Given the description of an element on the screen output the (x, y) to click on. 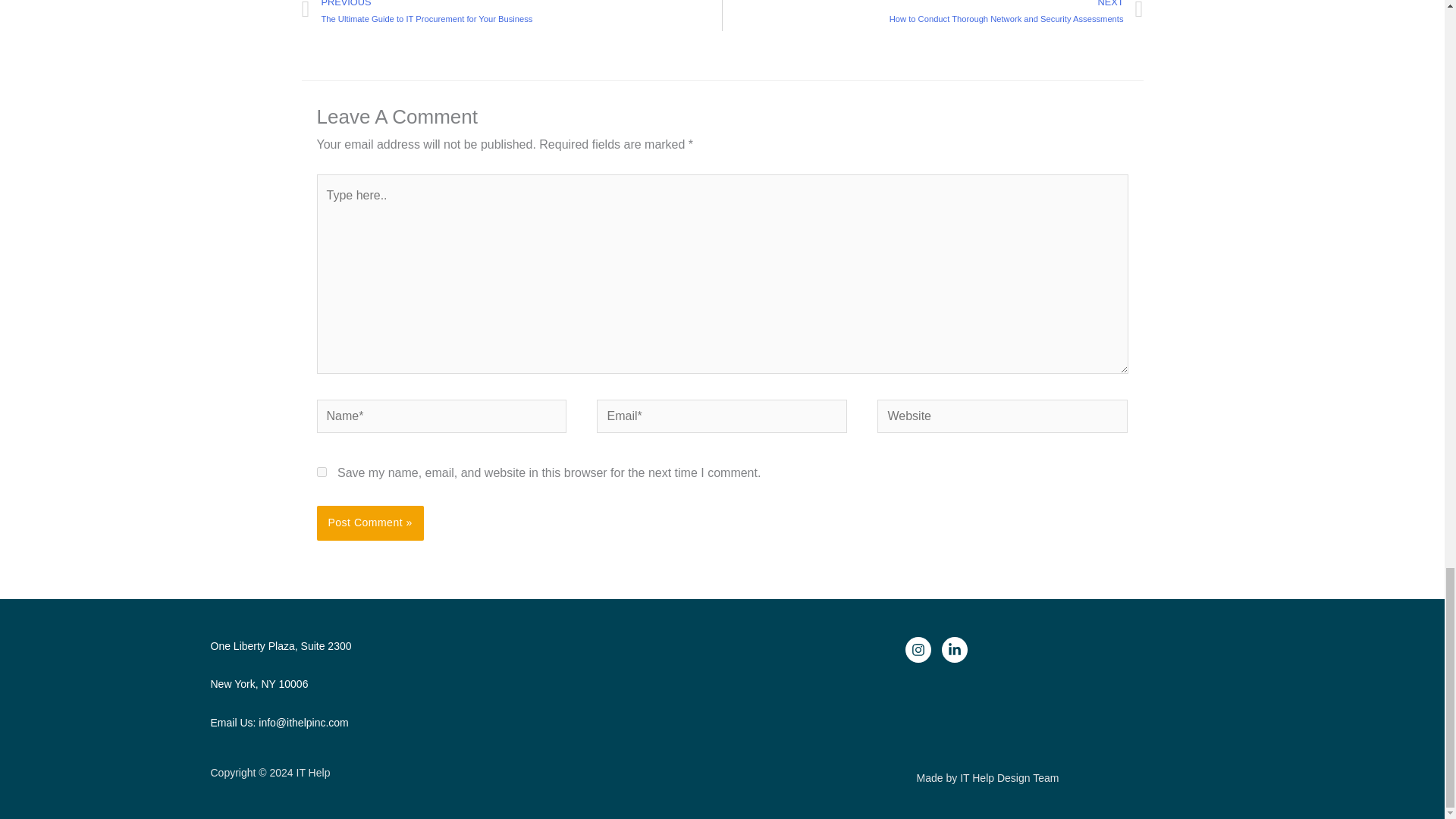
yes (321, 471)
